Given the description of an element on the screen output the (x, y) to click on. 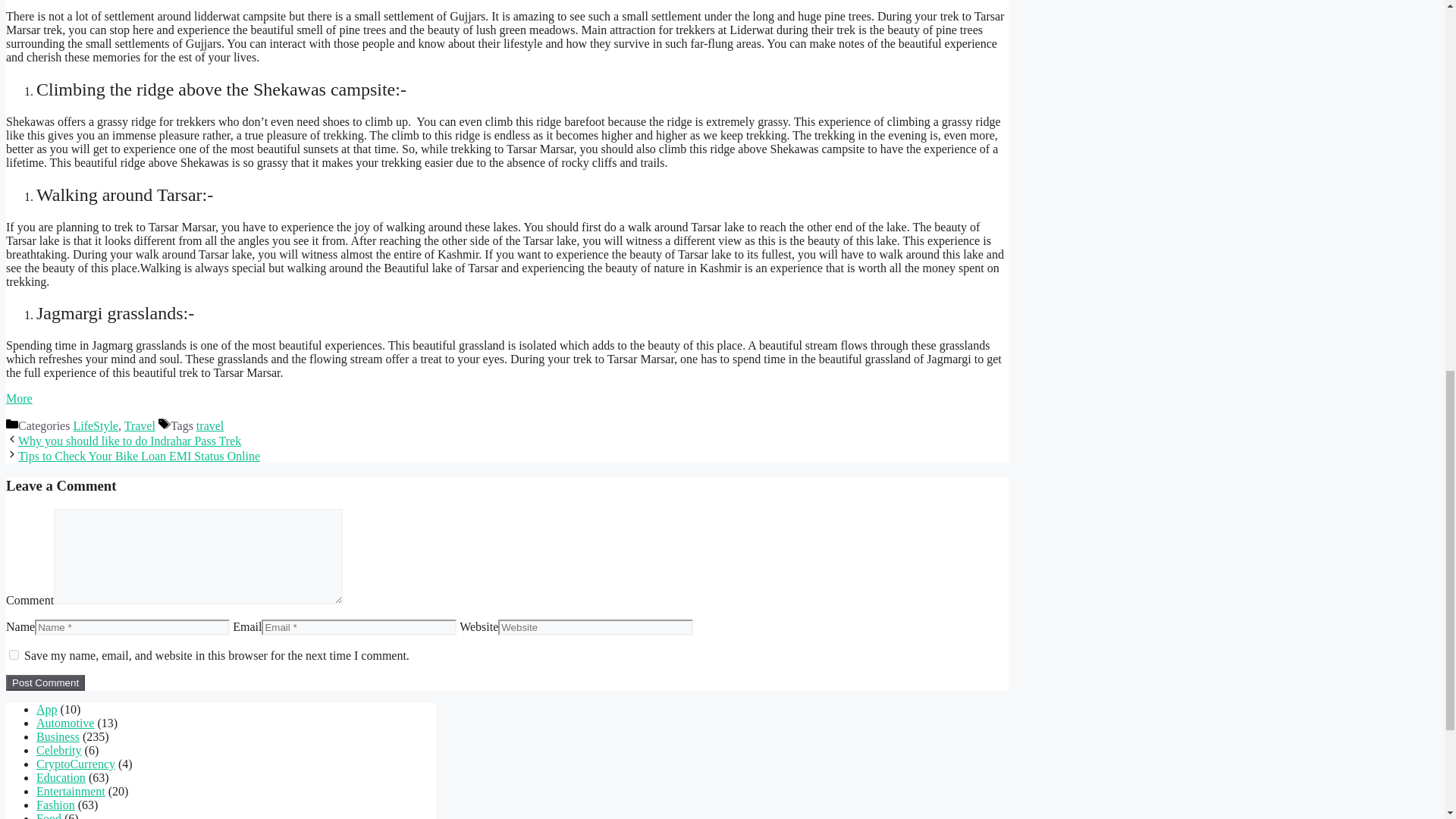
CryptoCurrency (75, 763)
Automotive (65, 722)
More (18, 398)
Fashion (55, 804)
Tips to Check Your Bike Loan EMI Status Online (138, 455)
Post Comment (44, 682)
Entertainment (70, 790)
App (47, 708)
LifeStyle (94, 425)
Celebrity (58, 749)
